Given the description of an element on the screen output the (x, y) to click on. 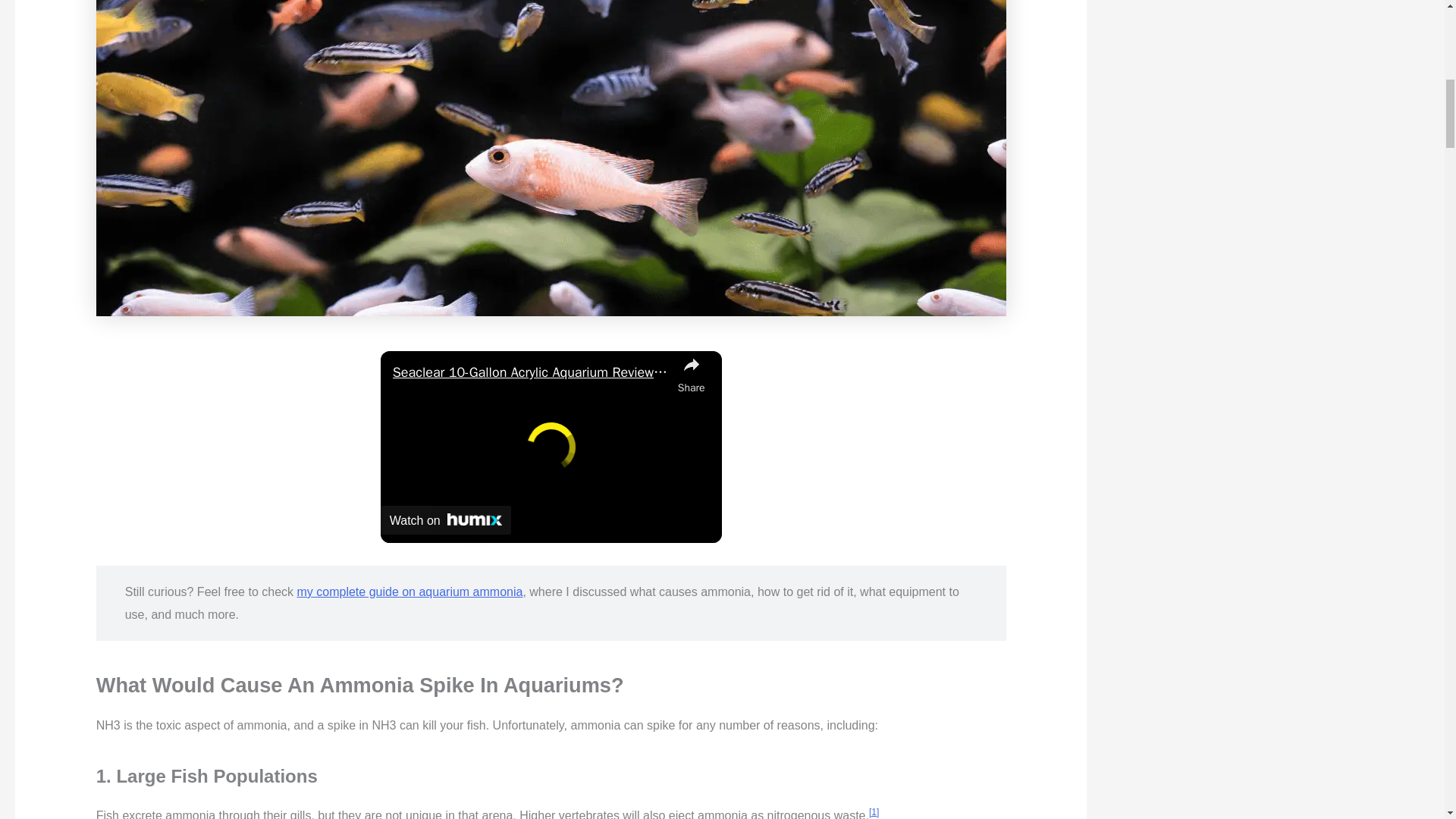
Watch on (445, 520)
my complete guide on aquarium ammonia (409, 591)
